Given the description of an element on the screen output the (x, y) to click on. 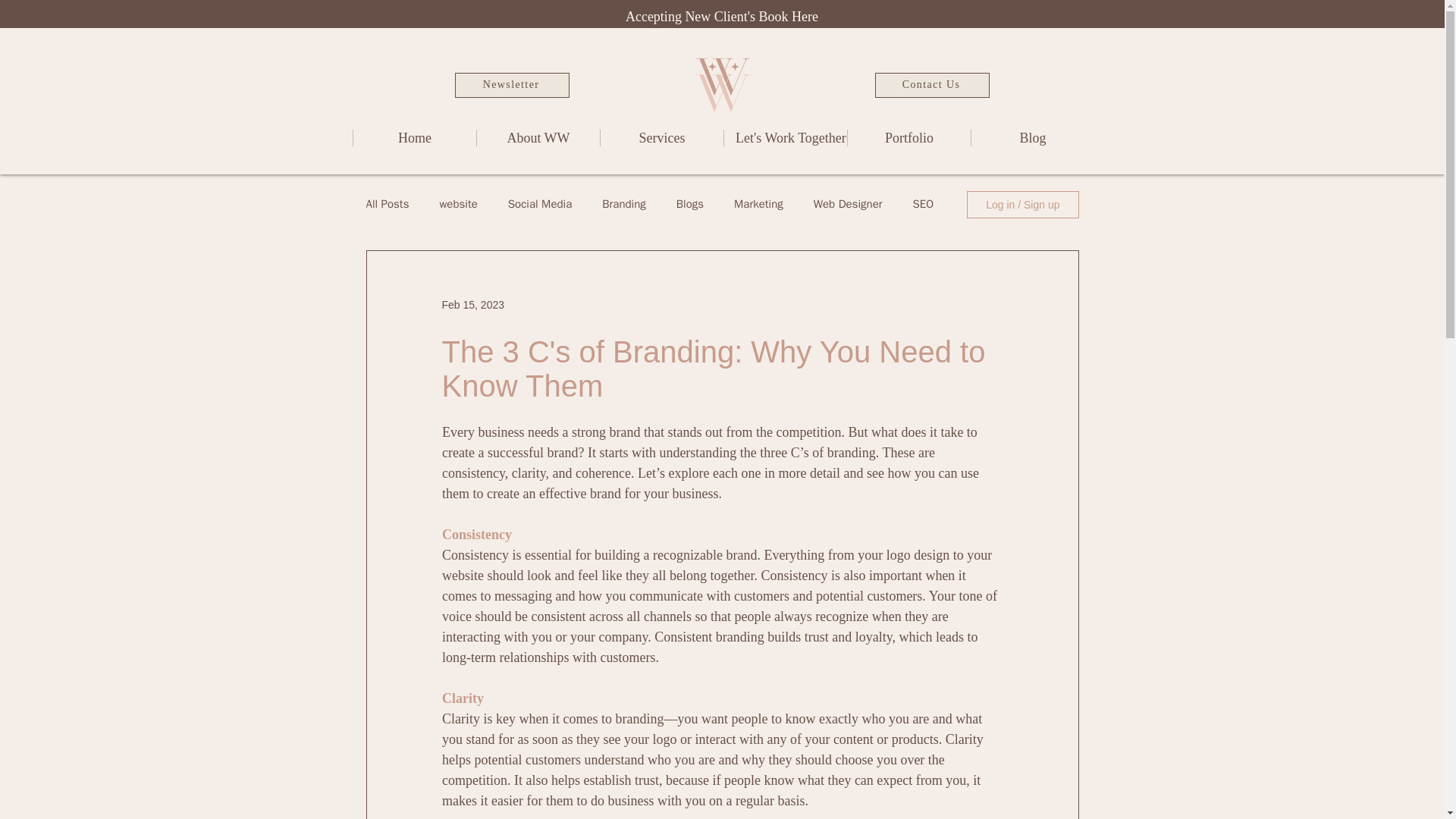
All Posts (387, 204)
Home (414, 137)
Portfolio (909, 137)
SEO (923, 204)
website (458, 204)
Web Designer (847, 204)
Services (661, 137)
Marketing (758, 204)
Accepting New Client's Book Here (722, 16)
Newsletter (511, 84)
